Given the description of an element on the screen output the (x, y) to click on. 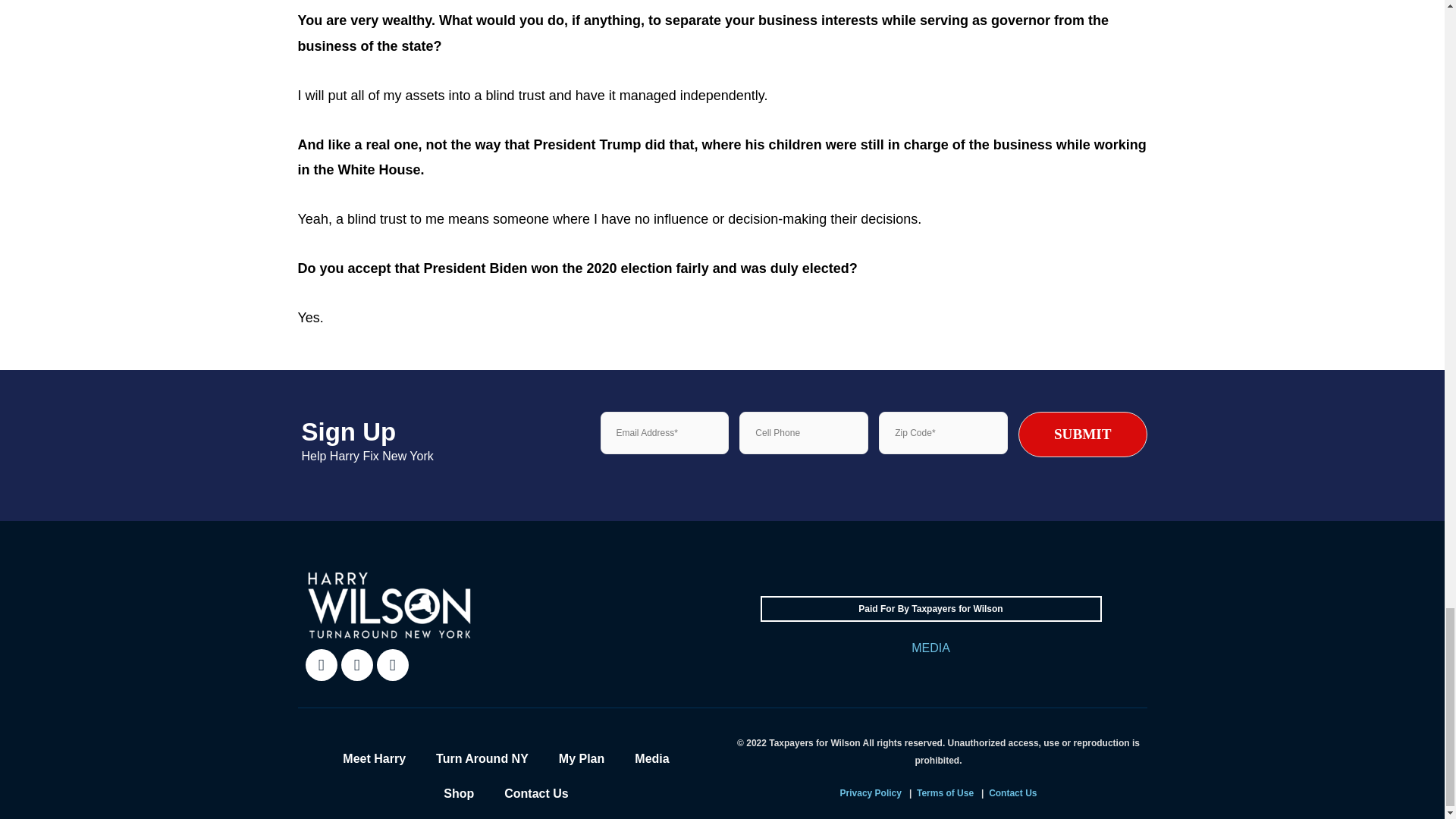
SUBMIT (1082, 434)
Submit (641, 499)
